Given the description of an element on the screen output the (x, y) to click on. 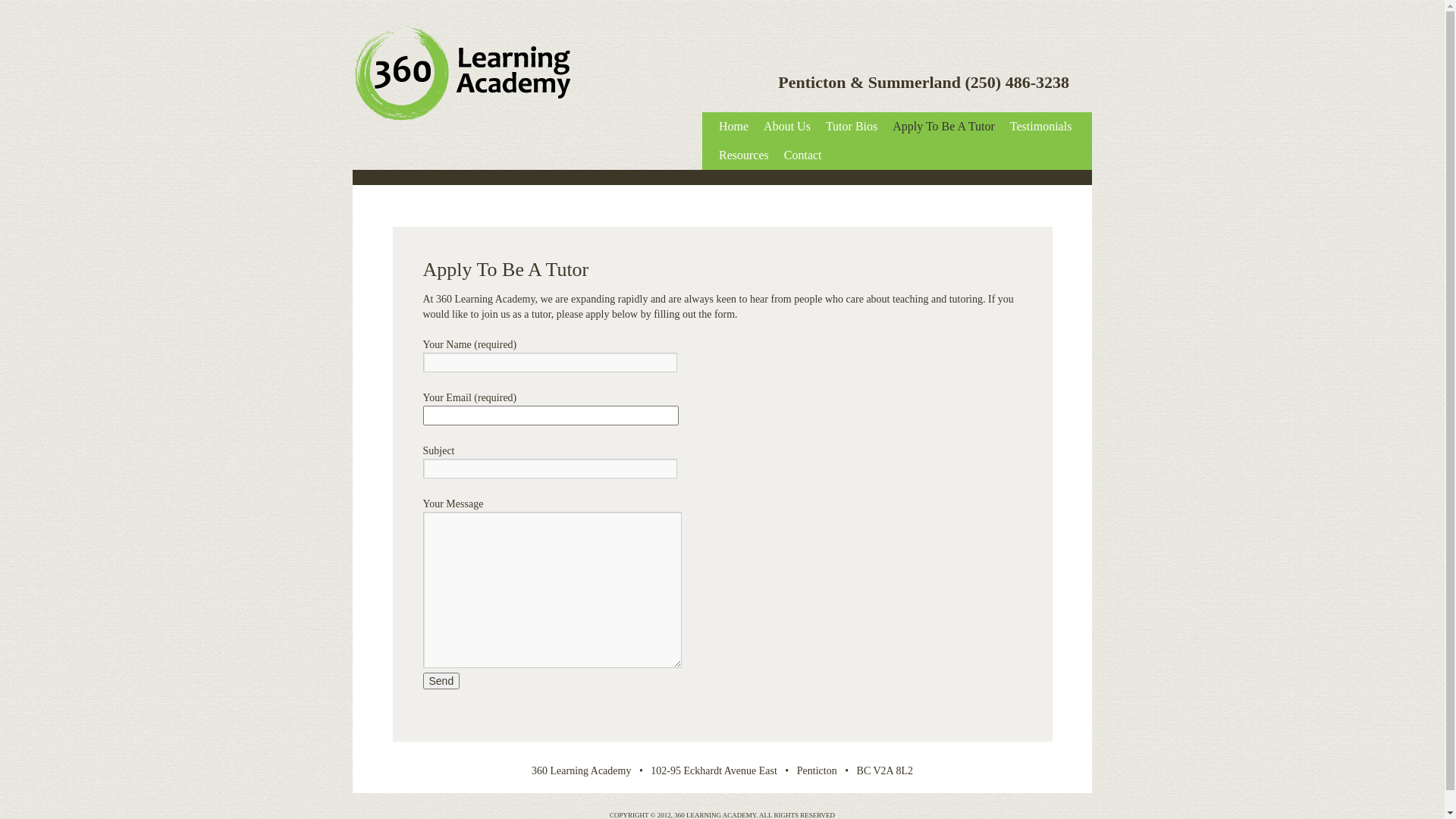
Testimonials Element type: text (1040, 126)
Tutor Bios Element type: text (851, 126)
Contact Element type: text (802, 155)
Resources Element type: text (743, 155)
About Us Element type: text (787, 126)
Send Element type: text (441, 680)
Home Element type: text (733, 126)
Apply To Be A Tutor Element type: text (943, 126)
